Given the description of an element on the screen output the (x, y) to click on. 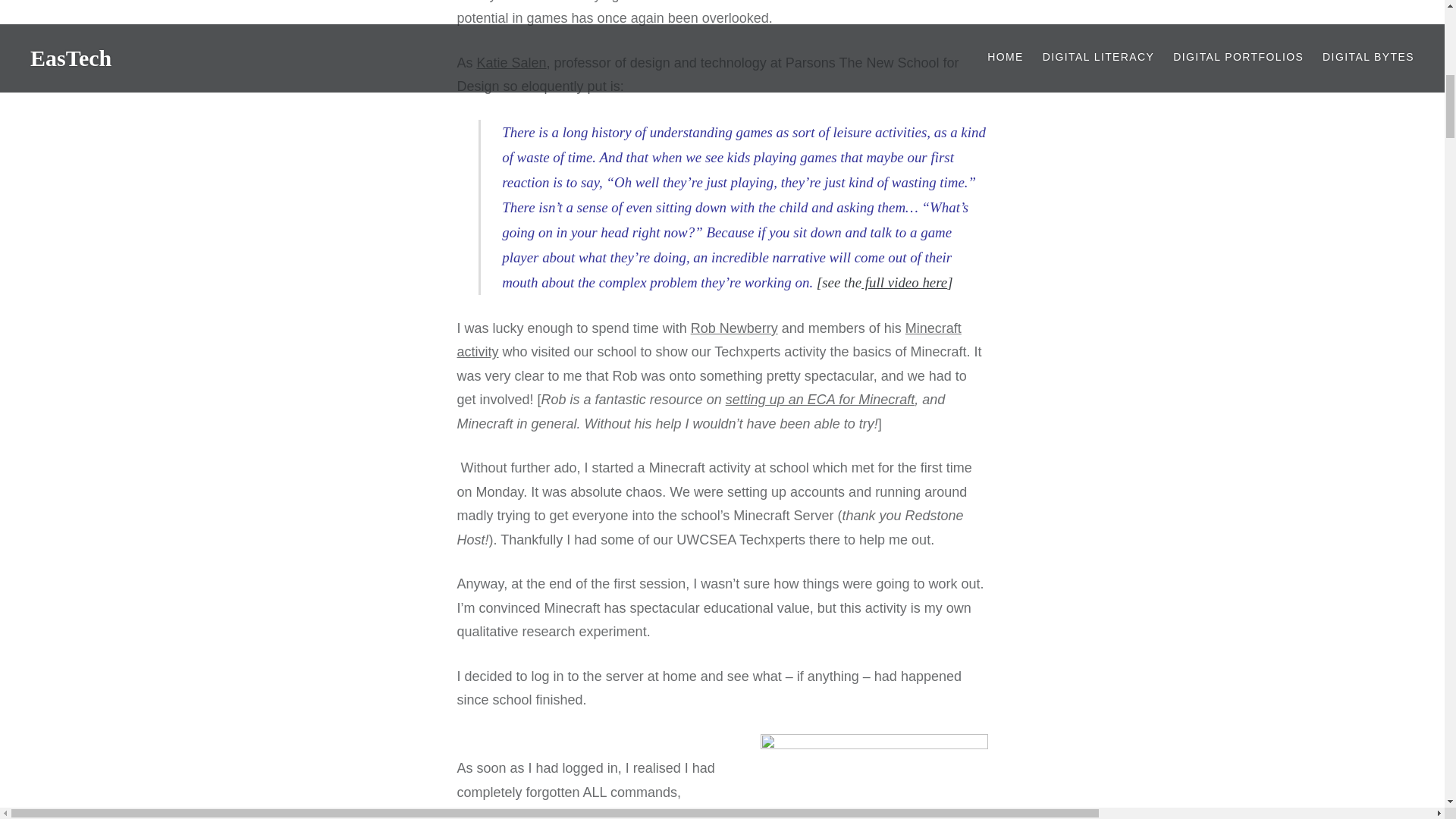
Katie Salen (512, 62)
Screen Shot 2012-02-13 at 8.58.08 PM (873, 776)
Rob Newberry (733, 328)
Minecraft activity (708, 340)
full video here (904, 282)
setting up an ECA for Minecraft (819, 399)
